Given the description of an element on the screen output the (x, y) to click on. 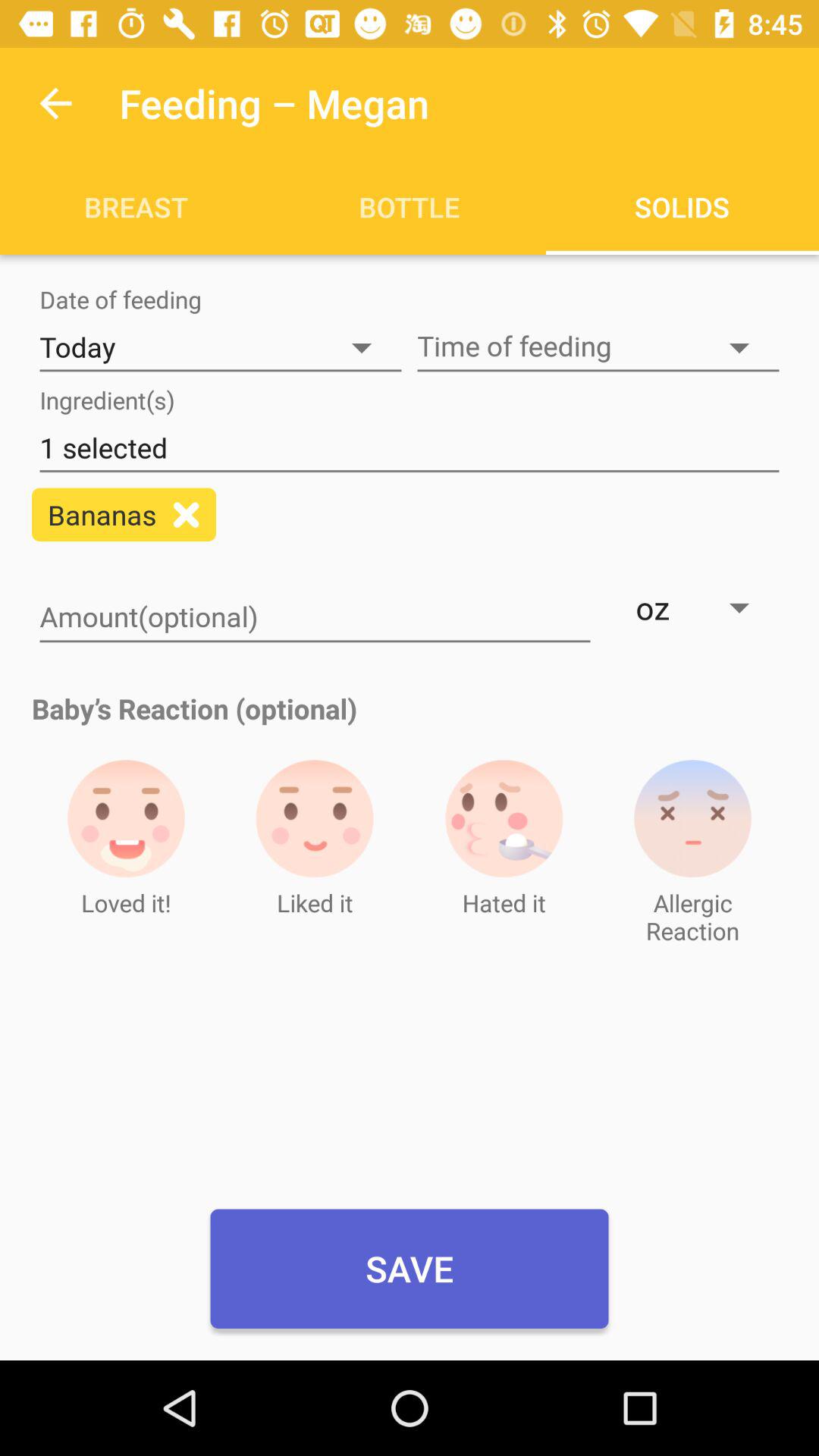
add quantity (314, 618)
